Given the description of an element on the screen output the (x, y) to click on. 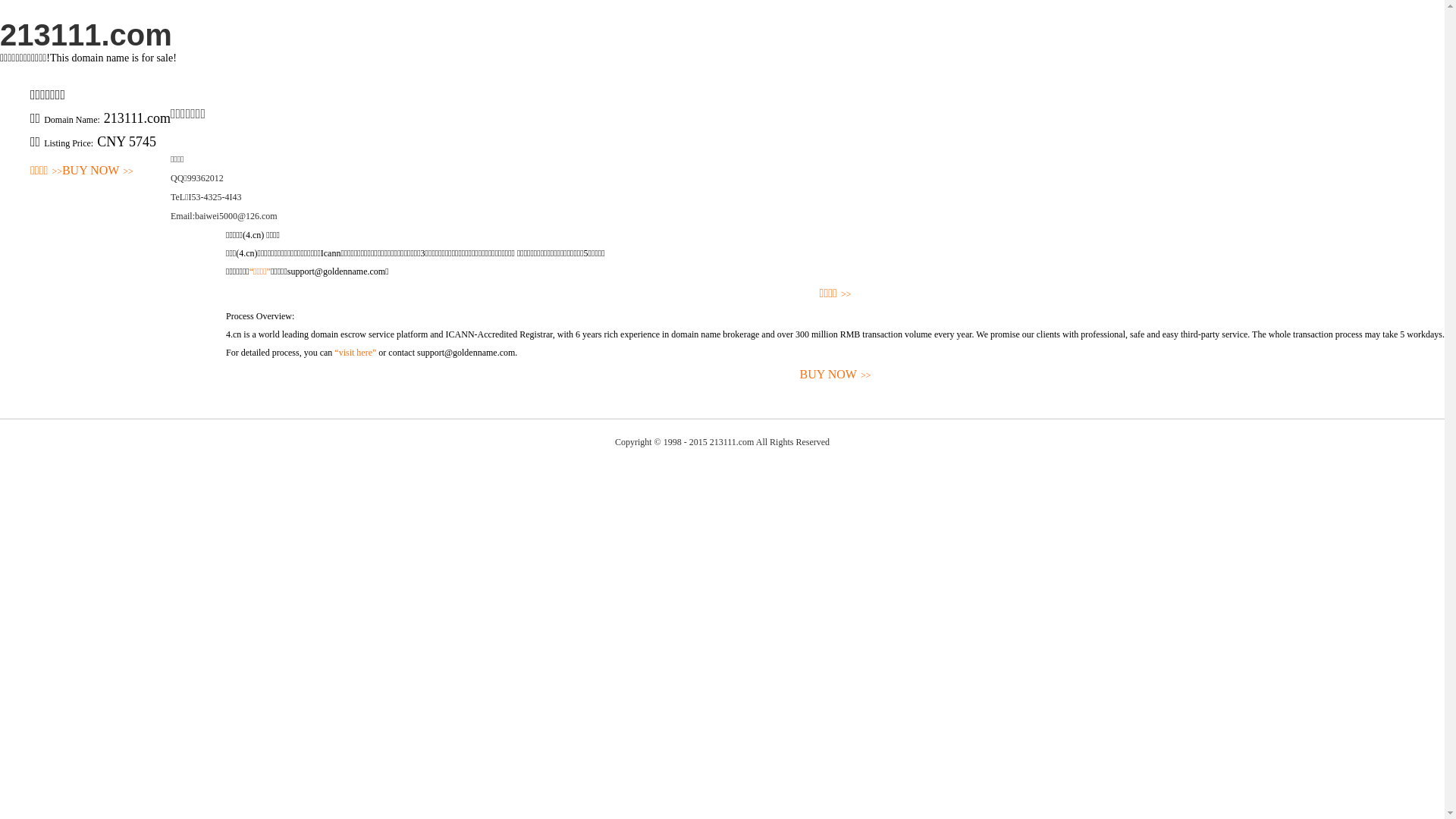
BUY NOW>> Element type: text (97, 170)
BUY NOW>> Element type: text (834, 374)
